Given the description of an element on the screen output the (x, y) to click on. 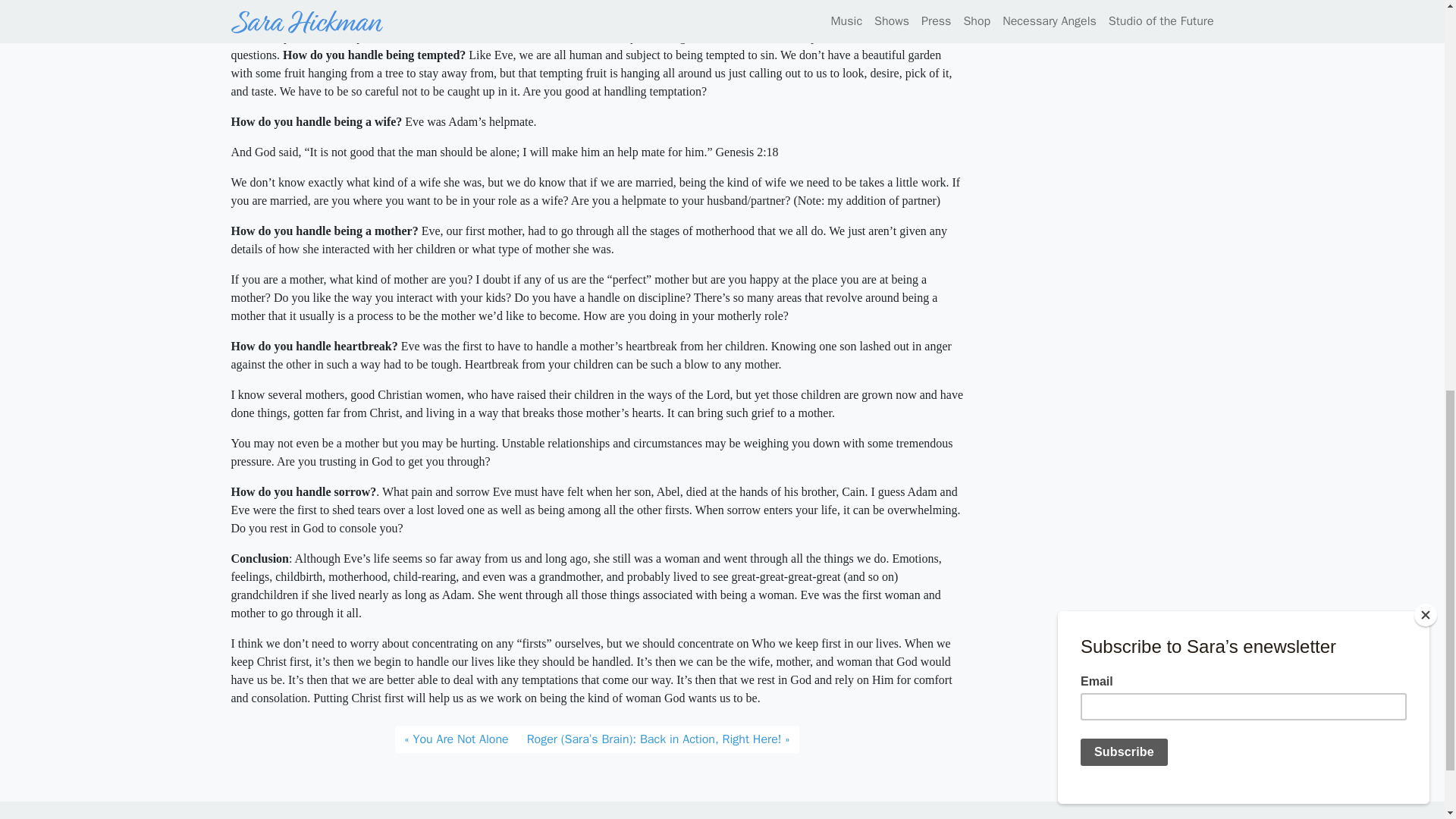
You Are Not Alone (455, 738)
